Given the description of an element on the screen output the (x, y) to click on. 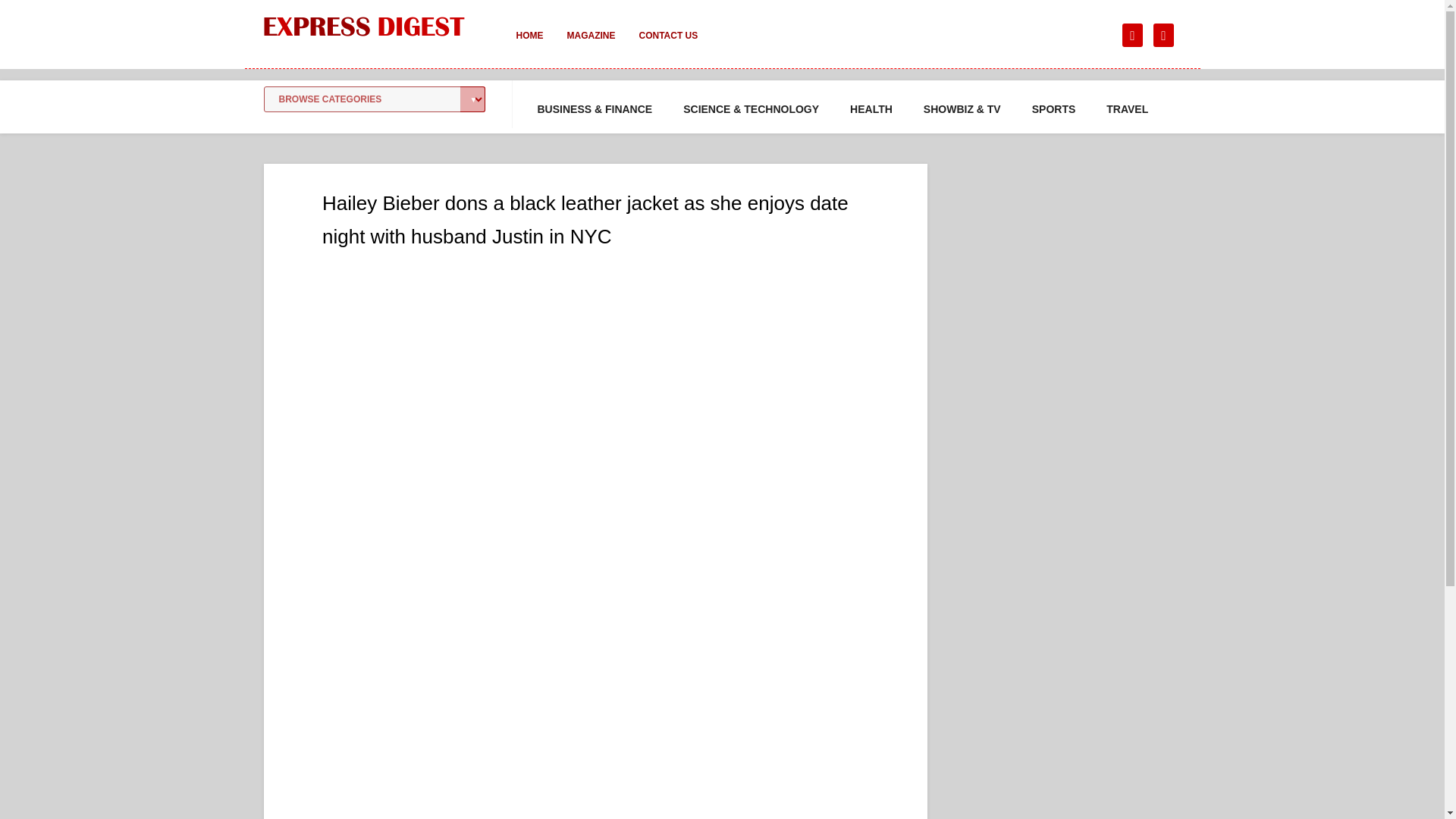
SPORTS (1053, 109)
TRAVEL (1127, 109)
MAGAZINE (590, 45)
HEALTH (871, 109)
CONTACT US (667, 45)
